Given the description of an element on the screen output the (x, y) to click on. 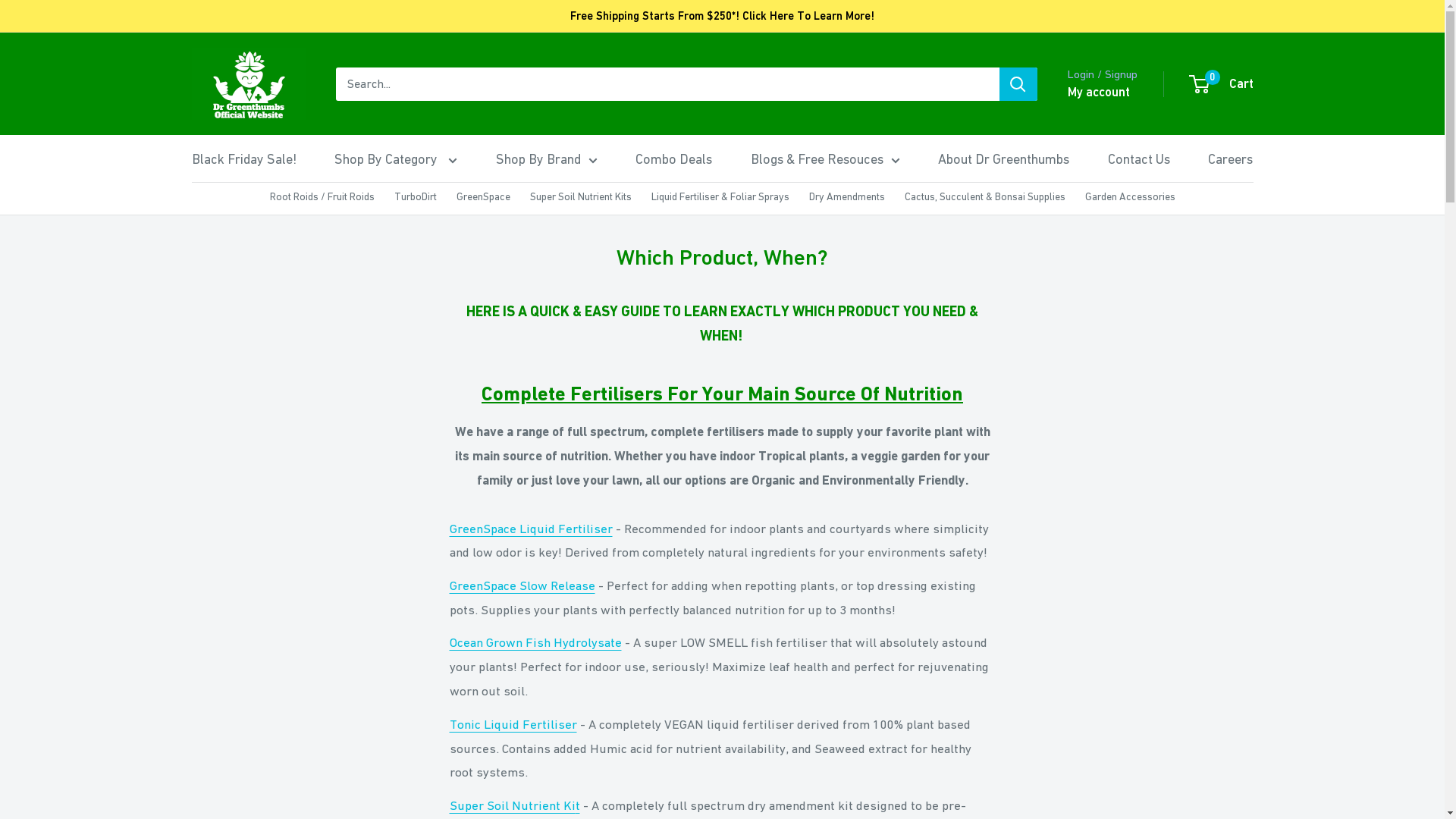
Root Roids / Fruit Roids Element type: text (321, 196)
GreenSpace Liquid Fertiliser Element type: text (529, 528)
TurboDirt Element type: text (415, 196)
My account Element type: text (1098, 92)
Combo Deals Element type: text (673, 159)
Contact Us Element type: text (1138, 159)
Liquid Fertiliser & Foliar Sprays Element type: text (719, 196)
Black Friday Sale! Element type: text (243, 159)
Super Soil Nutrient Ki Element type: text (511, 804)
Careers Element type: text (1230, 159)
GreenSpace Slow Release Element type: text (521, 585)
Ocean Grown Fish Hydrolysate Element type: text (534, 641)
t Element type: text (576, 804)
Shop By Category Element type: text (395, 159)
Cactus, Succulent & Bonsai Supplies Element type: text (983, 196)
Blogs & Free Resouces Element type: text (825, 159)
Garden Accessories Element type: text (1129, 196)
0
Cart Element type: text (1221, 84)
GreenSpace Element type: text (483, 196)
Free Shipping Starts From $250*! Click Here To Learn More! Element type: text (722, 15)
Tonic Liquid Fertiliser Element type: text (512, 723)
Dry Amendments Element type: text (846, 196)
Super Soil Nutrient Kits Element type: text (579, 196)
Dr Greenthumbs Element type: text (247, 83)
Shop By Brand Element type: text (546, 159)
About Dr Greenthumbs Element type: text (1003, 159)
